Given the description of an element on the screen output the (x, y) to click on. 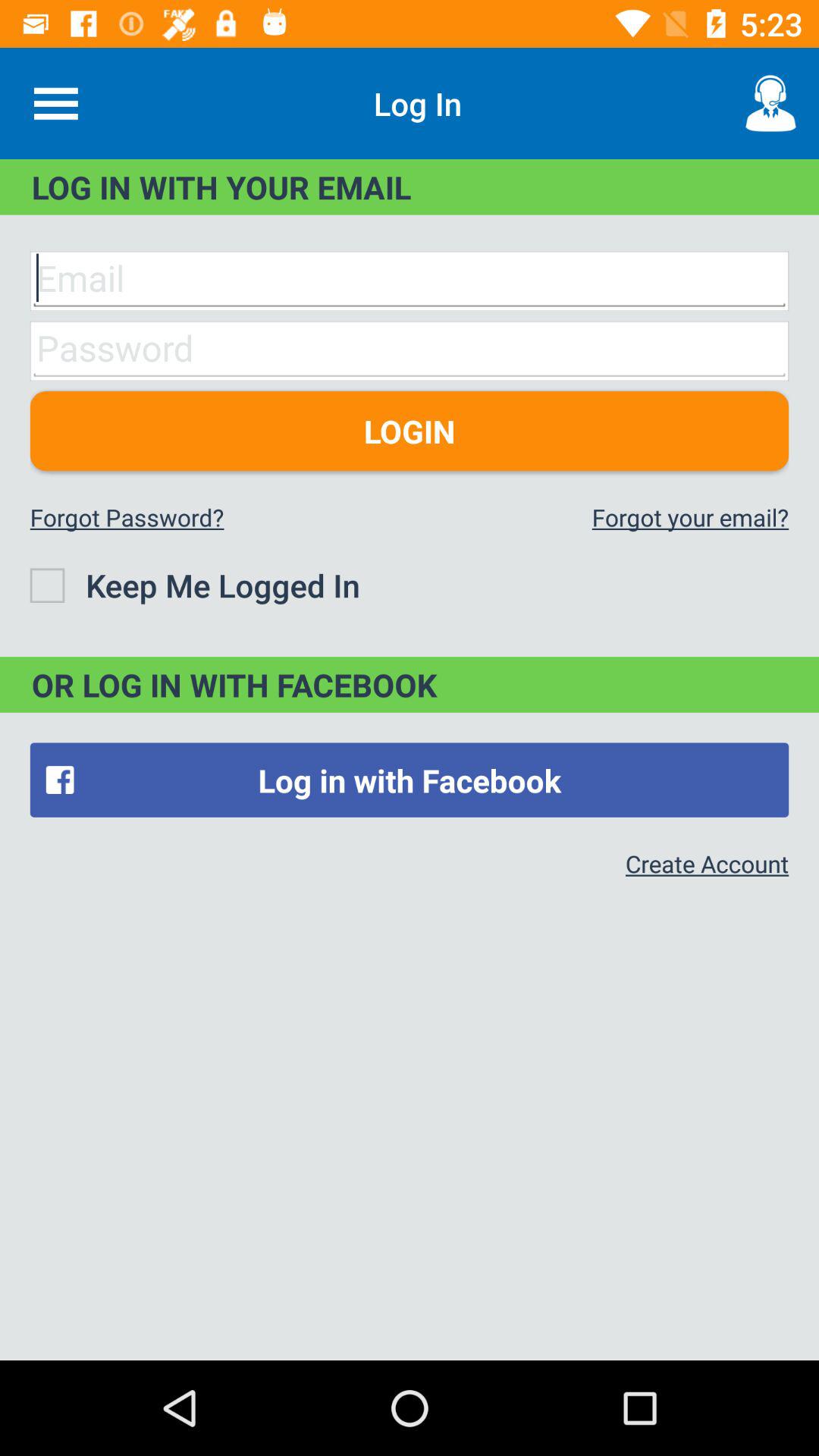
tap icon to the left of the log in item (55, 103)
